Given the description of an element on the screen output the (x, y) to click on. 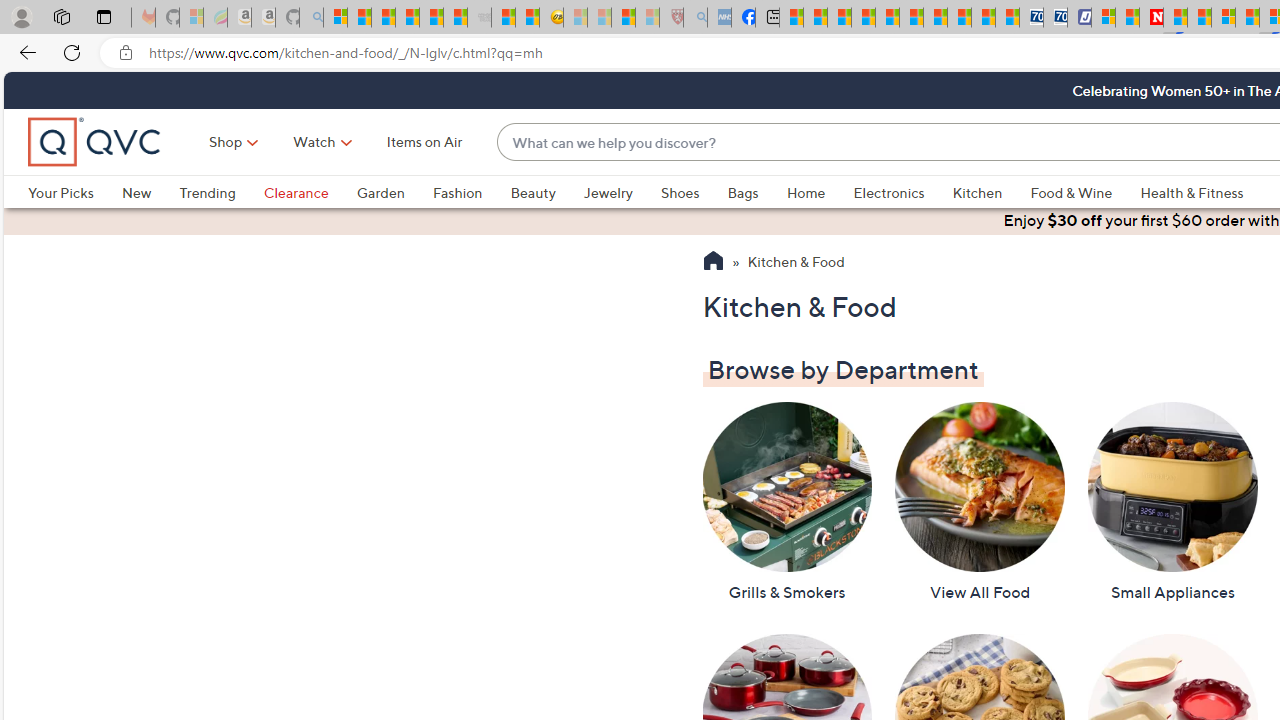
Clearance (309, 192)
Kitchen & Food (795, 263)
Jewelry (621, 192)
Food & Wine (1071, 192)
Shoes (680, 192)
Kitchen (991, 192)
